Given the description of an element on the screen output the (x, y) to click on. 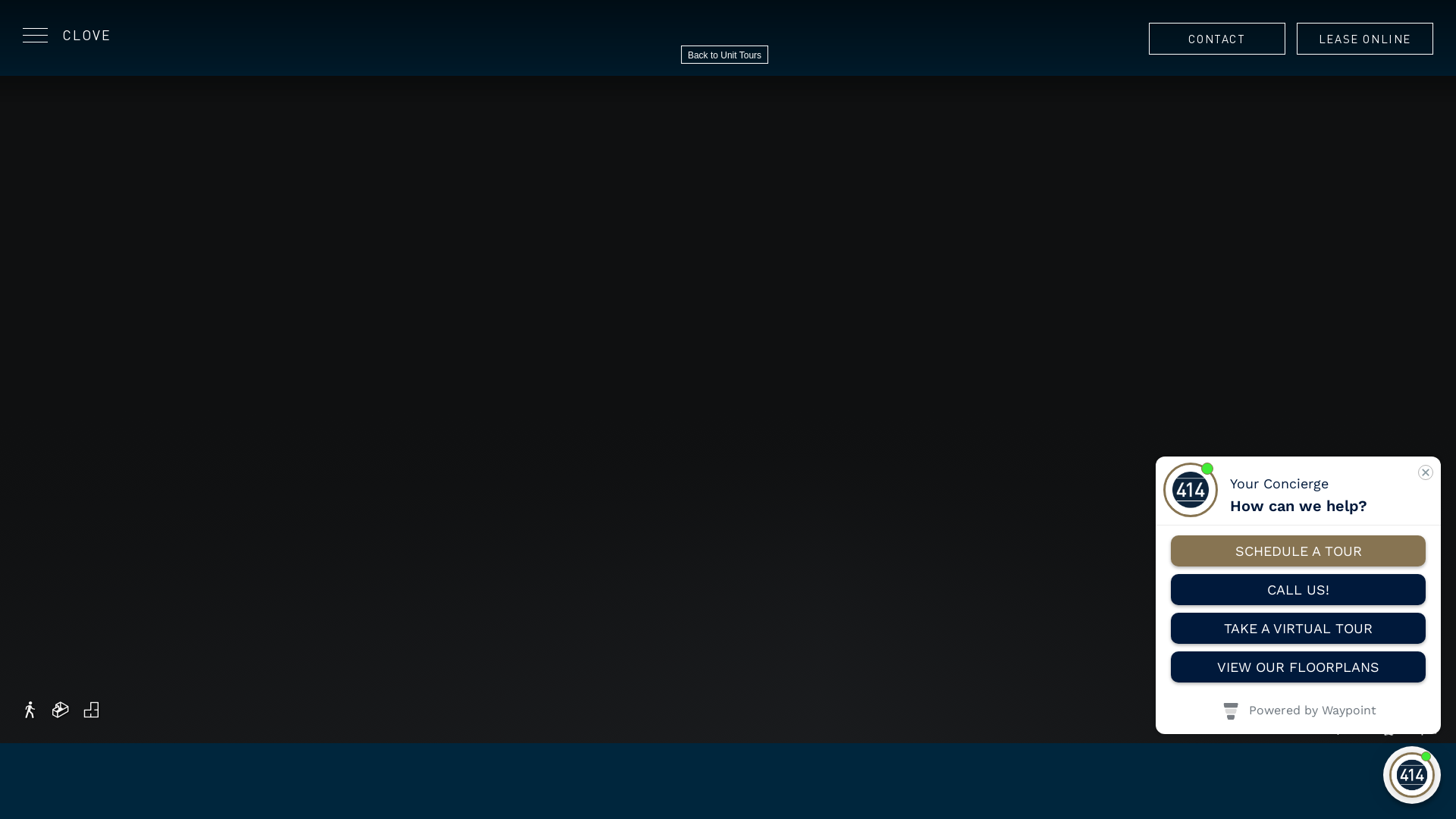
CLOVE Element type: text (86, 35)
Back to Unit Tours Element type: text (724, 54)
LEASE ONLINE Element type: text (1364, 38)
iframe Element type: hover (1297, 595)
CONTACT Element type: text (1216, 38)
